Given the description of an element on the screen output the (x, y) to click on. 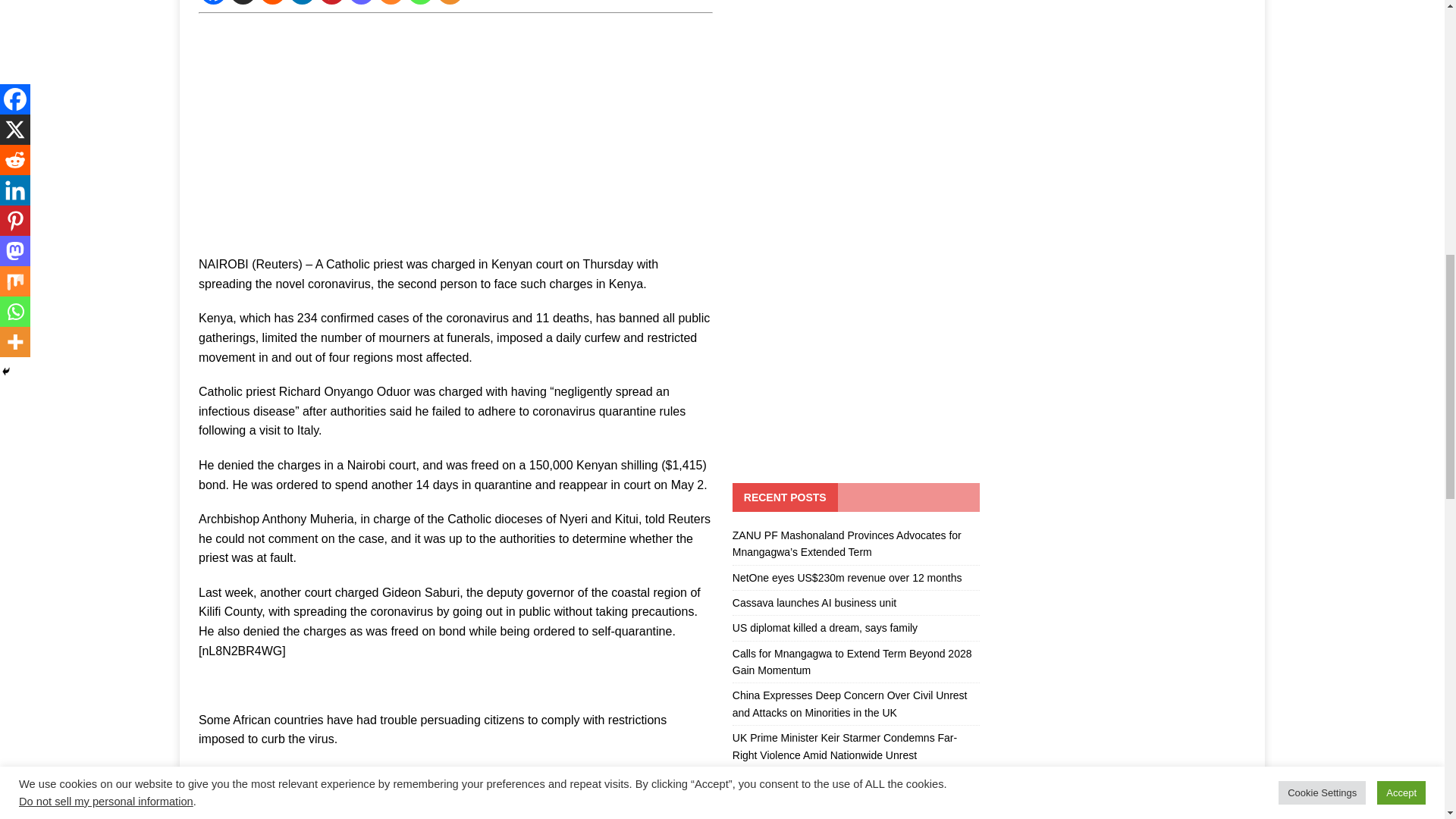
Mix (390, 2)
Pinterest (331, 2)
Facebook (213, 2)
Linkedin (301, 2)
Whatsapp (420, 2)
X (243, 2)
Reddit (272, 2)
Mastodon (360, 2)
